Given the description of an element on the screen output the (x, y) to click on. 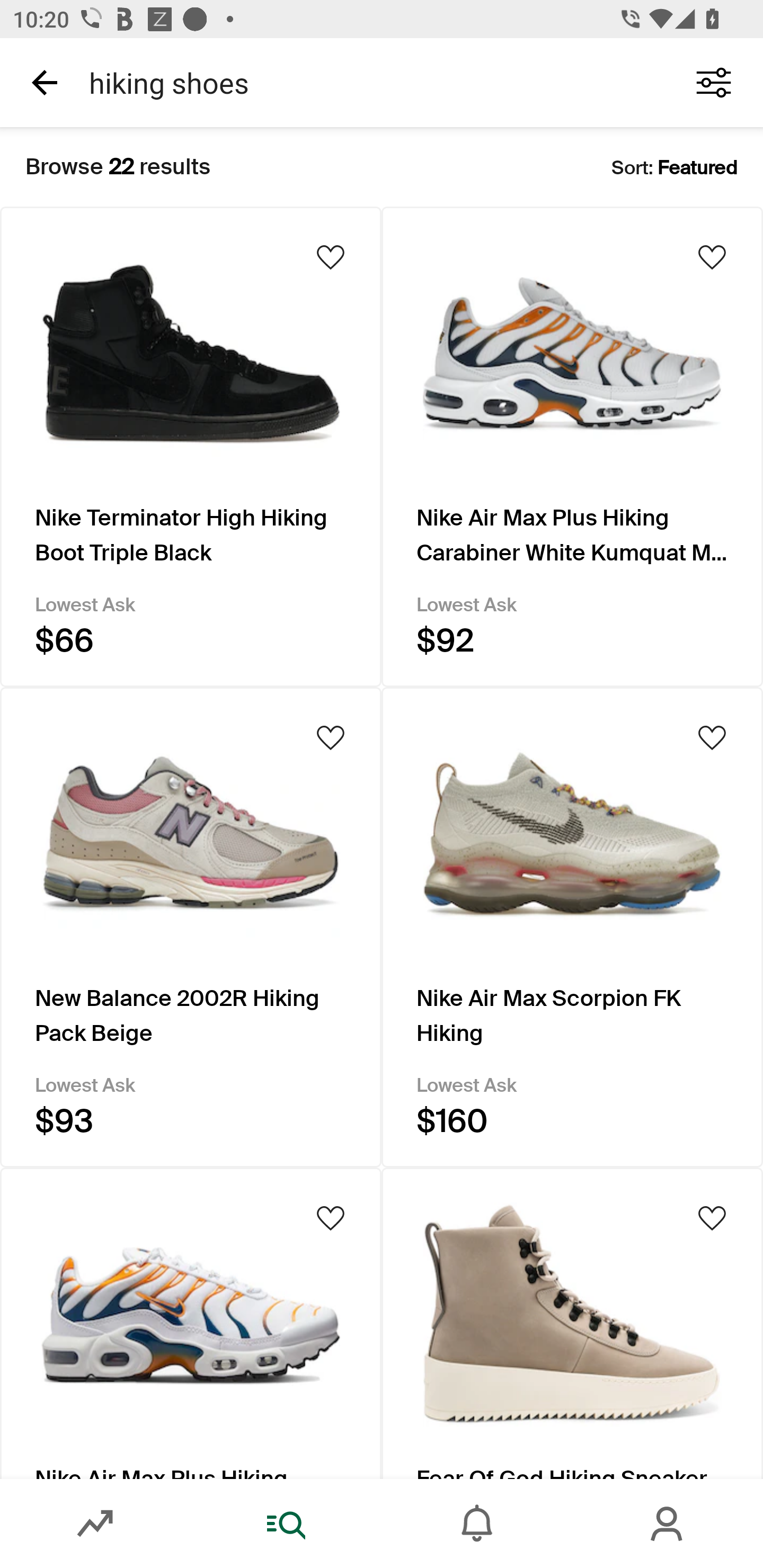
hiking shoes (370, 82)
Market (95, 1523)
Inbox (476, 1523)
Account (667, 1523)
